Given the description of an element on the screen output the (x, y) to click on. 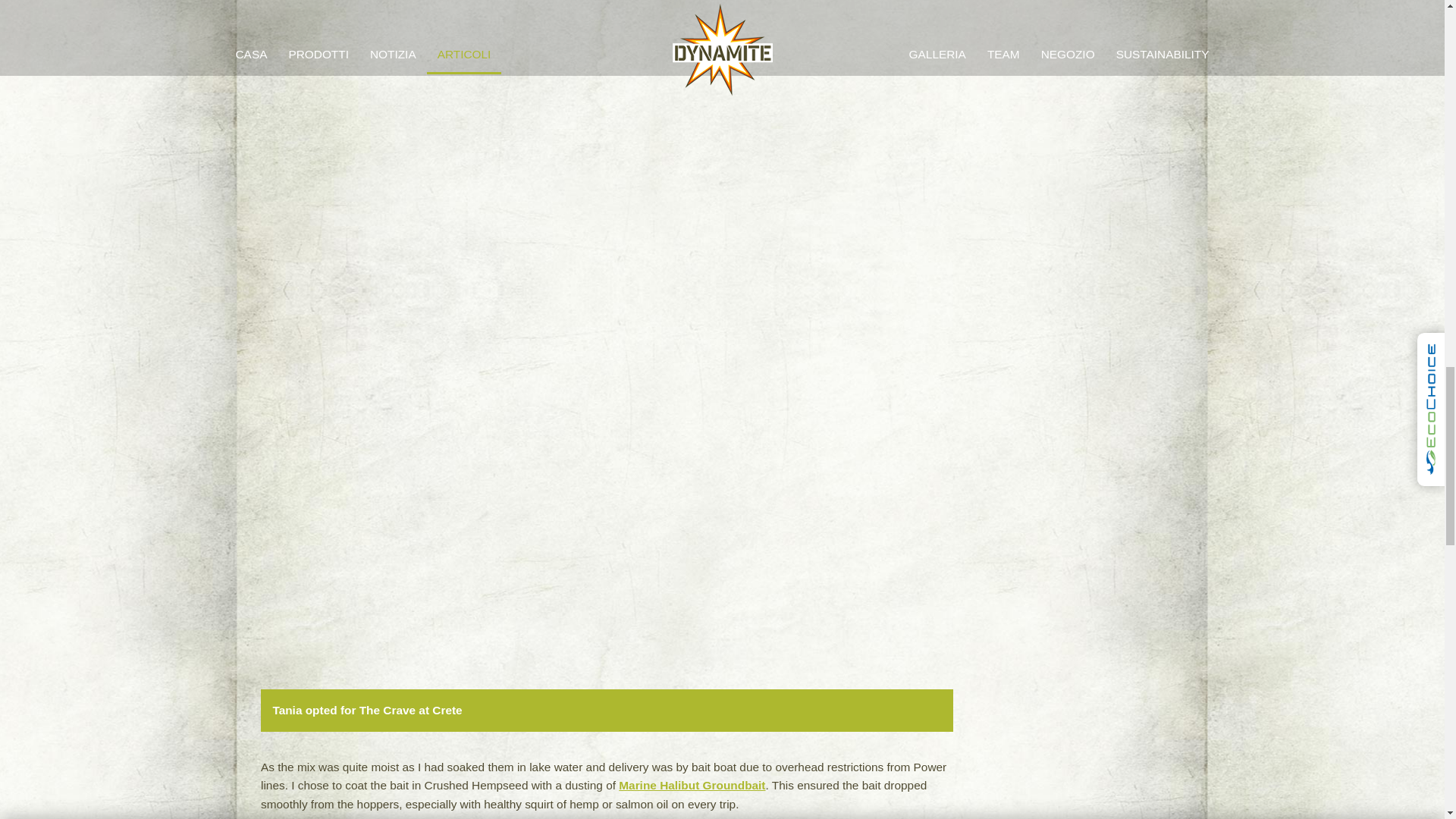
Marine Halibut Groundbait (691, 784)
